Given the description of an element on the screen output the (x, y) to click on. 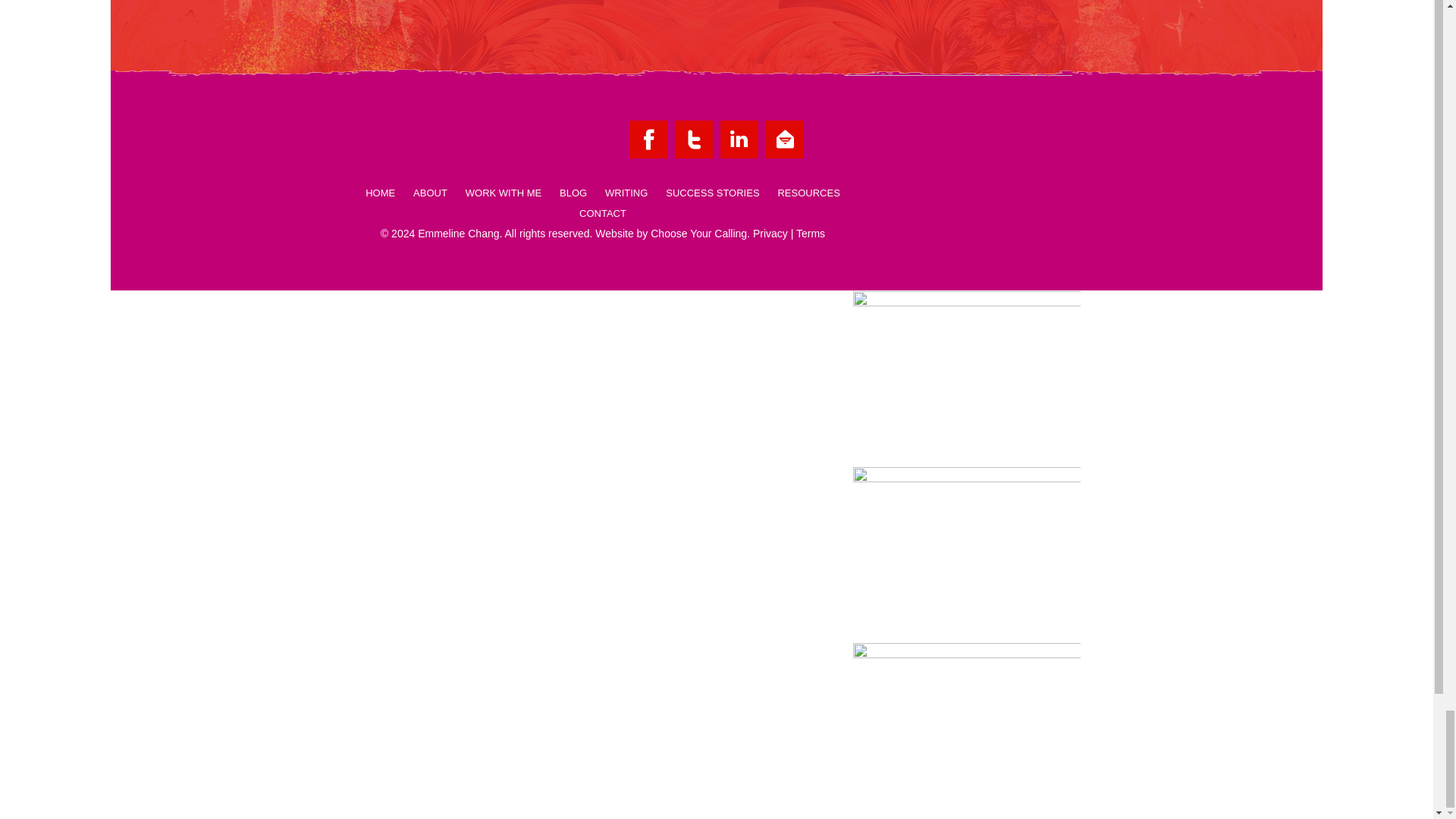
ABOUT (430, 196)
HOME (380, 196)
GET YOUR MAGIC! (945, 12)
